Given the description of an element on the screen output the (x, y) to click on. 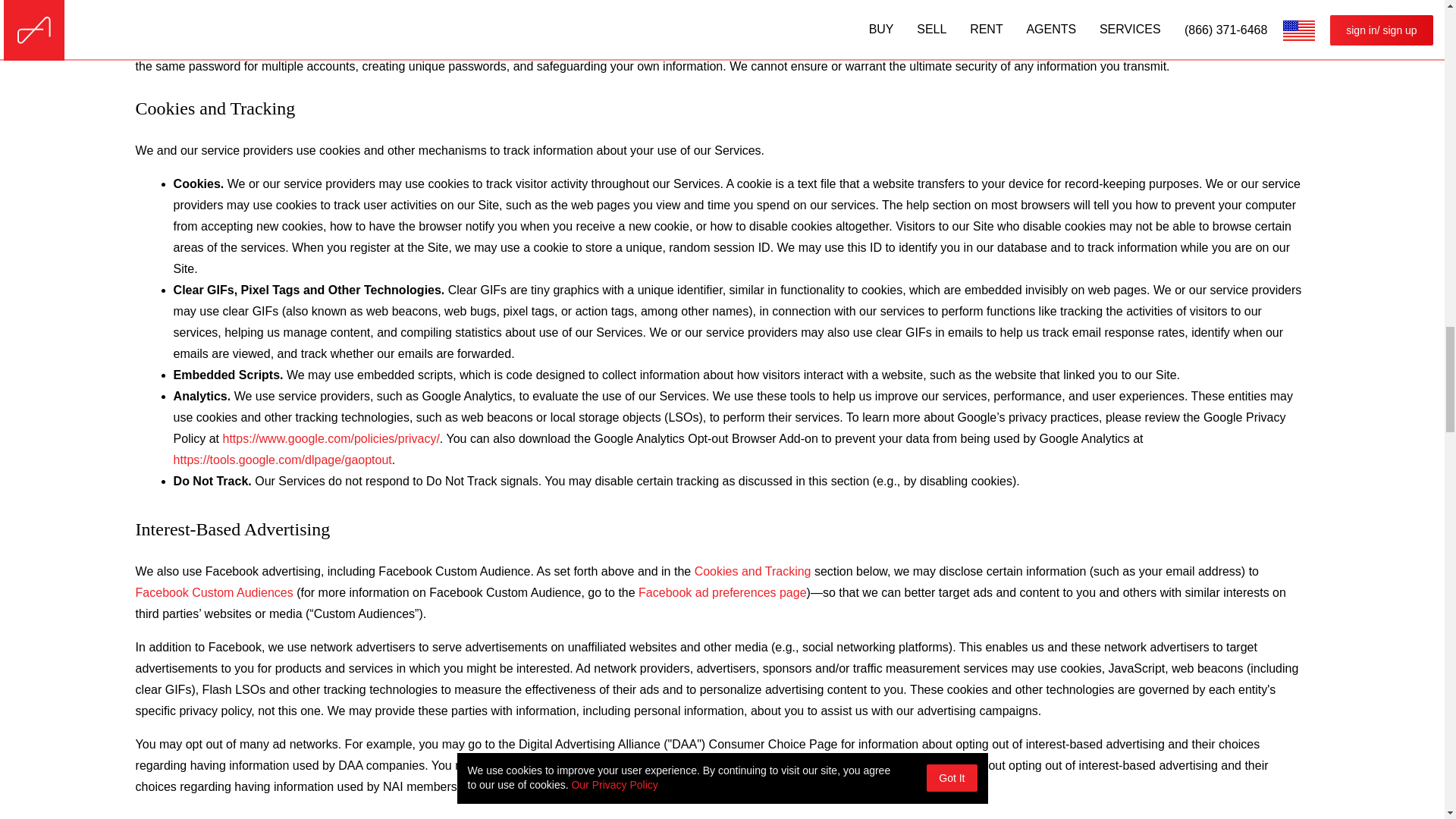
gaoptout (282, 459)
privacy (330, 438)
Facebook Custom Audiences (214, 591)
Facebook Custom Audiences (214, 591)
Facebook ad preferences page (722, 591)
Cookies and Tracking (752, 571)
Facebook ad preferences page (722, 591)
Cookies and Tracking (752, 571)
